Given the description of an element on the screen output the (x, y) to click on. 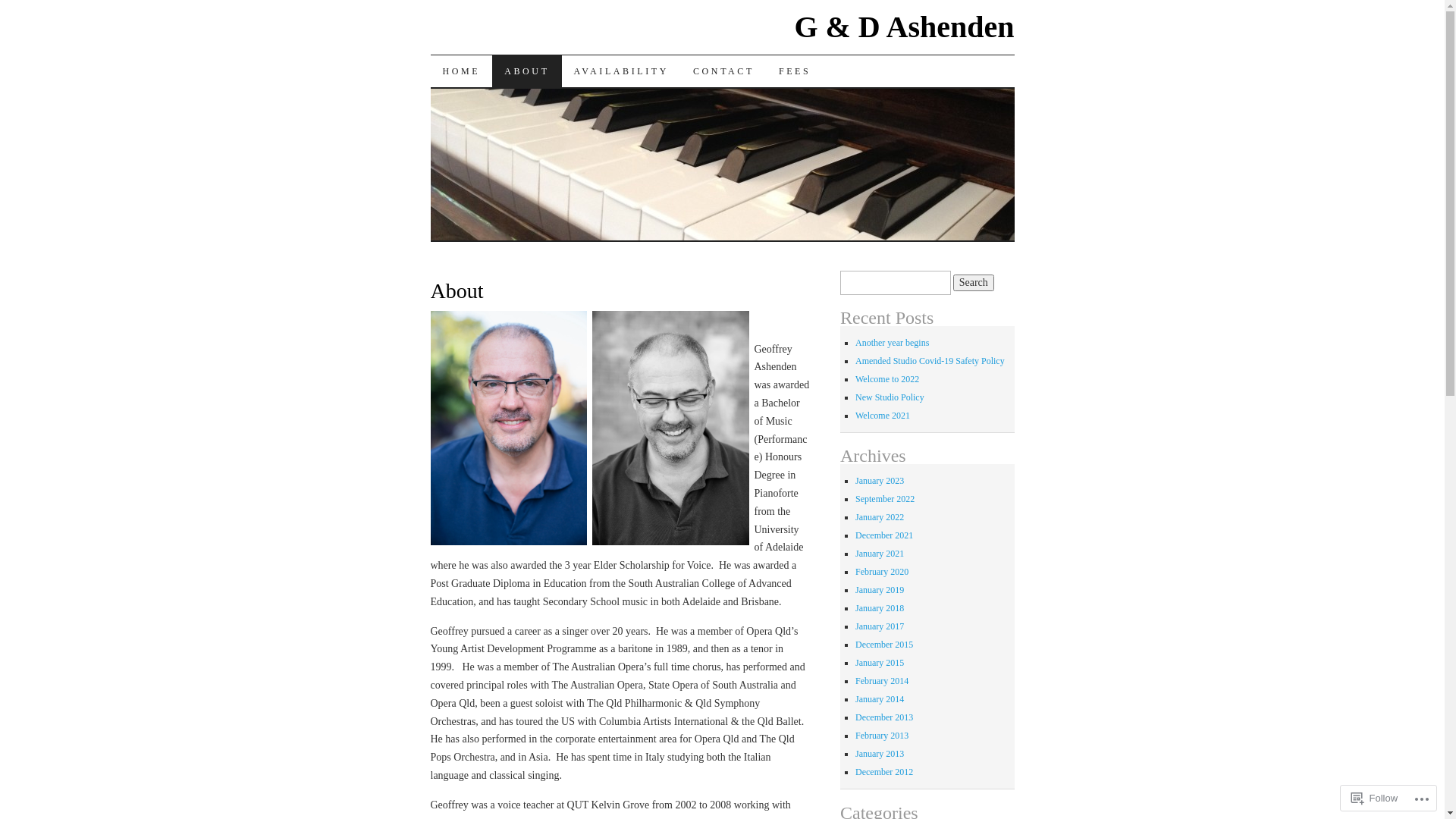
January 2014 Element type: text (879, 698)
January 2018 Element type: text (879, 607)
September 2022 Element type: text (884, 498)
December 2015 Element type: text (884, 644)
January 2019 Element type: text (879, 589)
December 2012 Element type: text (884, 771)
December 2013 Element type: text (884, 717)
Welcome to 2022 Element type: text (887, 378)
February 2013 Element type: text (881, 735)
February 2020 Element type: text (881, 571)
Welcome 2021 Element type: text (882, 415)
New Studio Policy Element type: text (889, 397)
AVAILABILITY Element type: text (620, 71)
January 2021 Element type: text (879, 553)
January 2015 Element type: text (879, 662)
February 2014 Element type: text (881, 680)
January 2023 Element type: text (879, 480)
Follow Element type: text (1374, 797)
HOME Element type: text (461, 71)
December 2021 Element type: text (884, 535)
ABOUT Element type: text (526, 71)
January 2017 Element type: text (879, 626)
Another year begins Element type: text (891, 342)
Amended Studio Covid-19 Safety Policy Element type: text (929, 360)
FEES Element type: text (794, 71)
CONTACT Element type: text (723, 71)
January 2013 Element type: text (879, 753)
Search Element type: text (973, 282)
G & D Ashenden Element type: text (903, 26)
January 2022 Element type: text (879, 516)
